Given the description of an element on the screen output the (x, y) to click on. 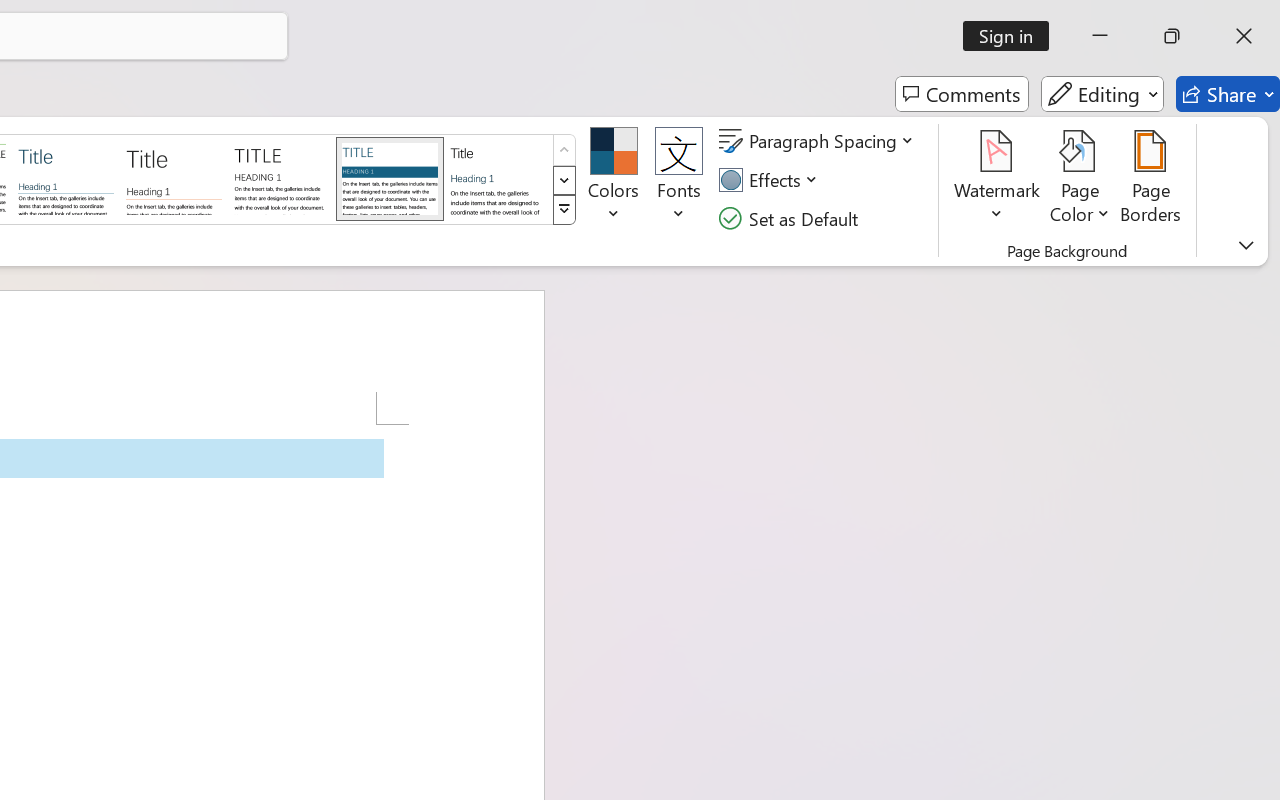
Paragraph Spacing (819, 141)
Word (497, 178)
Page Borders... (1151, 179)
Lines (Stylish) (173, 178)
Style Set (564, 209)
Editing (1101, 94)
Set as Default (791, 218)
Watermark (997, 179)
Lines (Simple) (65, 178)
